Given the description of an element on the screen output the (x, y) to click on. 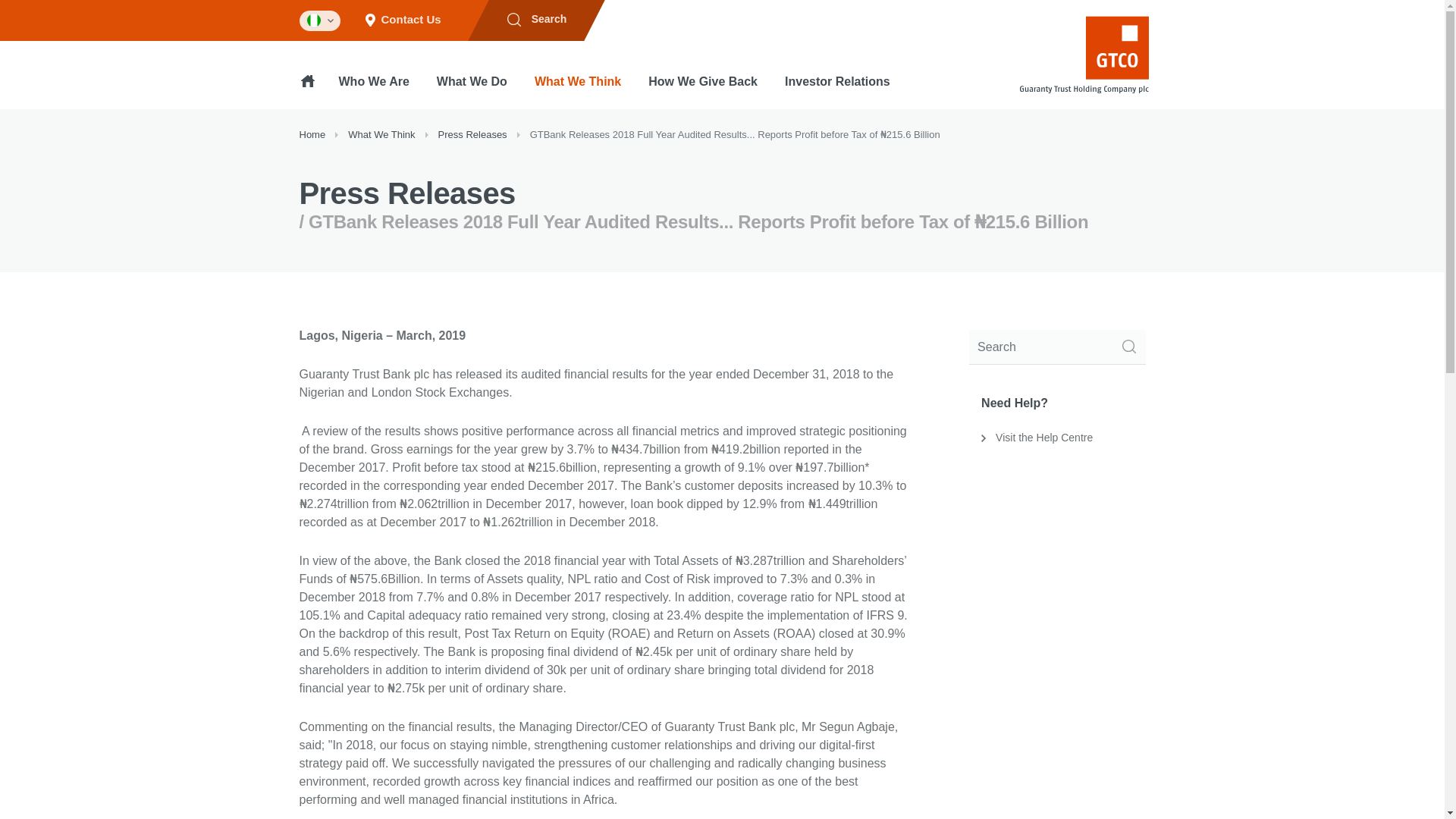
What We Think (577, 90)
What We Do (471, 90)
Who We Are (373, 90)
Contact Us (403, 19)
Search (536, 20)
